Given the description of an element on the screen output the (x, y) to click on. 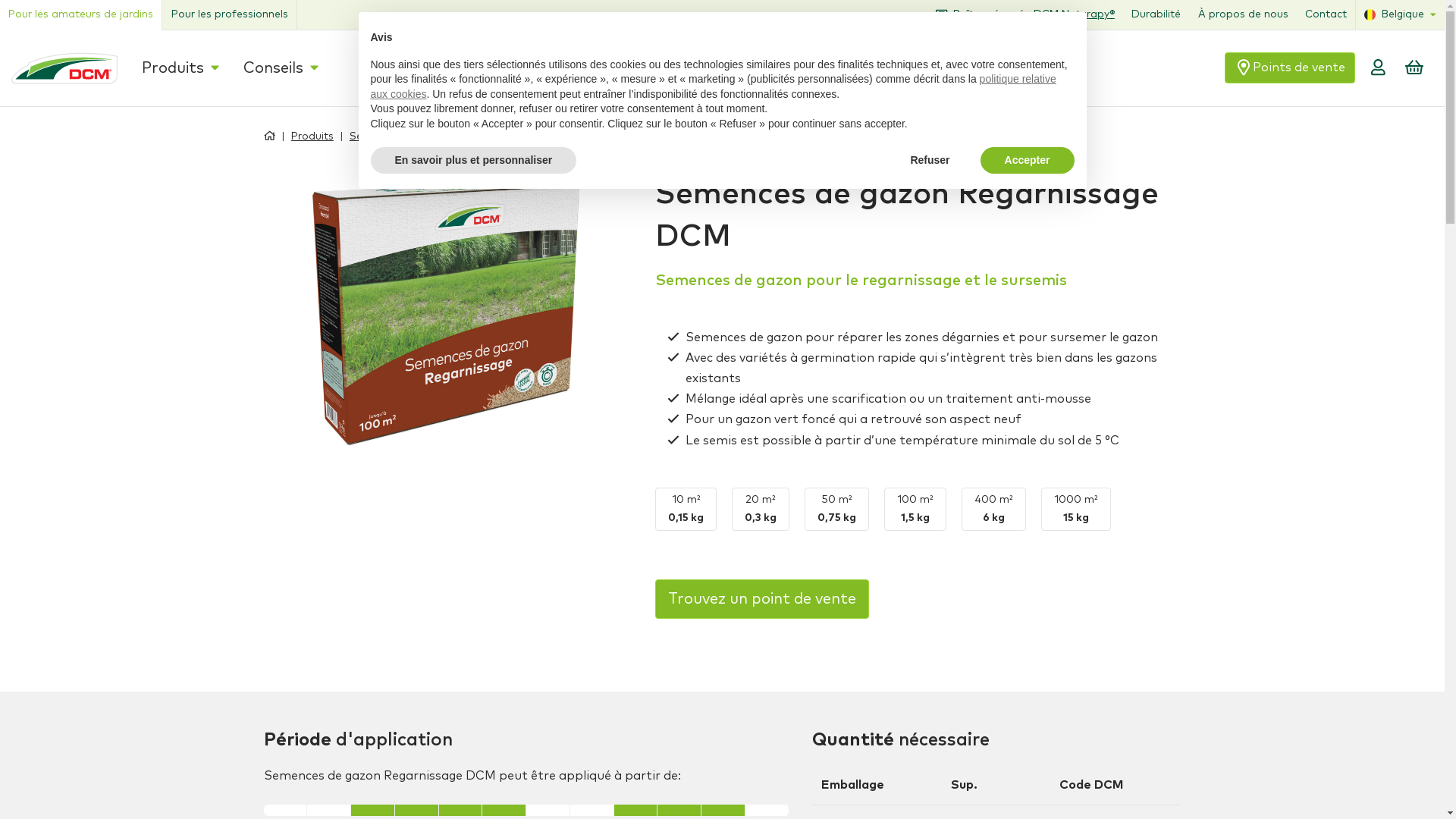
Produits Element type: text (300, 135)
Pour les professionnels Element type: text (228, 15)
Pour les amateurs de jardins Element type: text (80, 15)
Belgique Element type: text (1404, 15)
Trouvez un point de vente Element type: text (762, 598)
Points de vente Element type: text (1329, 67)
Conseils Element type: text (262, 67)
Contact Element type: text (1334, 15)
Semences Element type: text (363, 135)
Produits Element type: text (174, 67)
